Given the description of an element on the screen output the (x, y) to click on. 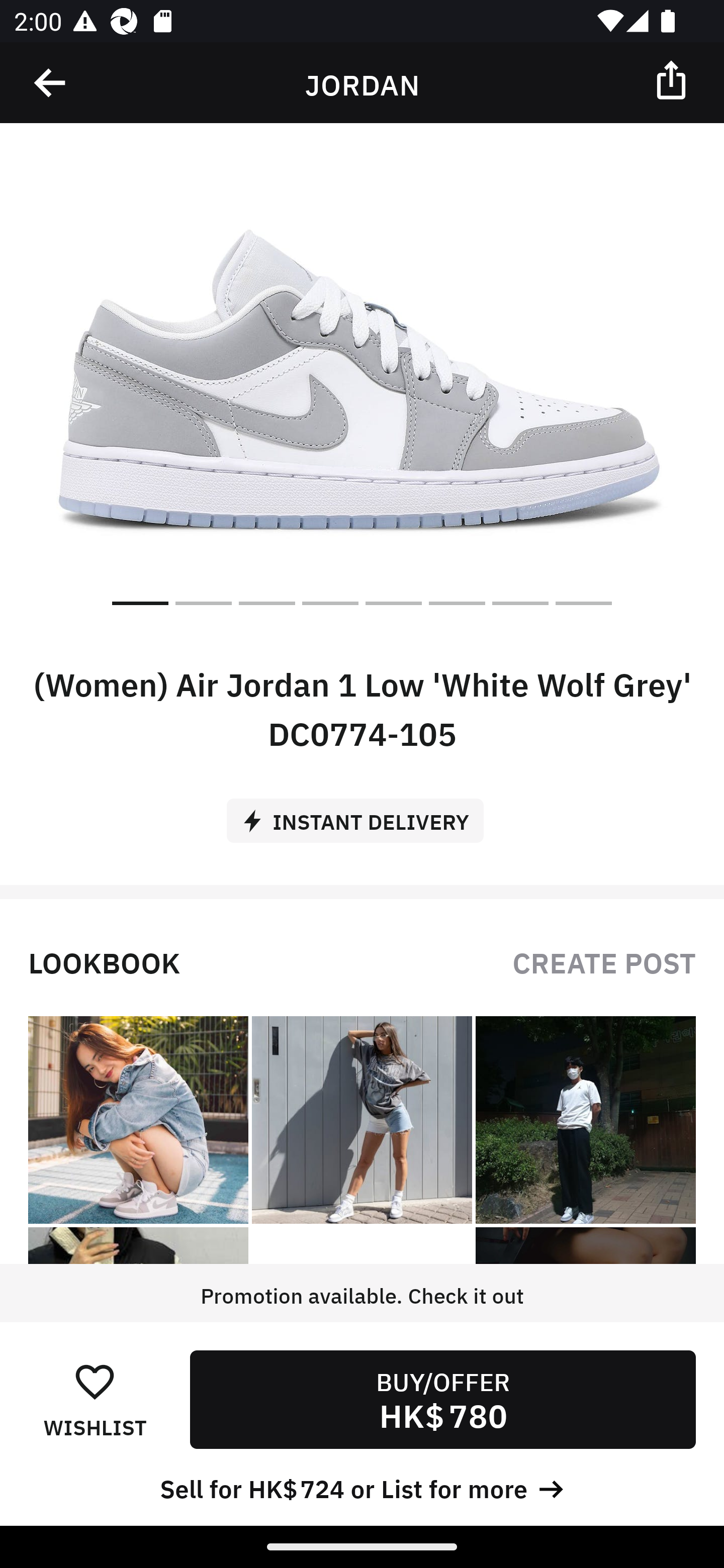
 (50, 83)
 (672, 79)
 INSTANT DELIVERY (362, 813)
CREATE POST (603, 960)
BUY/OFFER HK$ 780 (442, 1399)
󰋕 (94, 1380)
Sell for HK$ 724 or List for more (361, 1486)
